Given the description of an element on the screen output the (x, y) to click on. 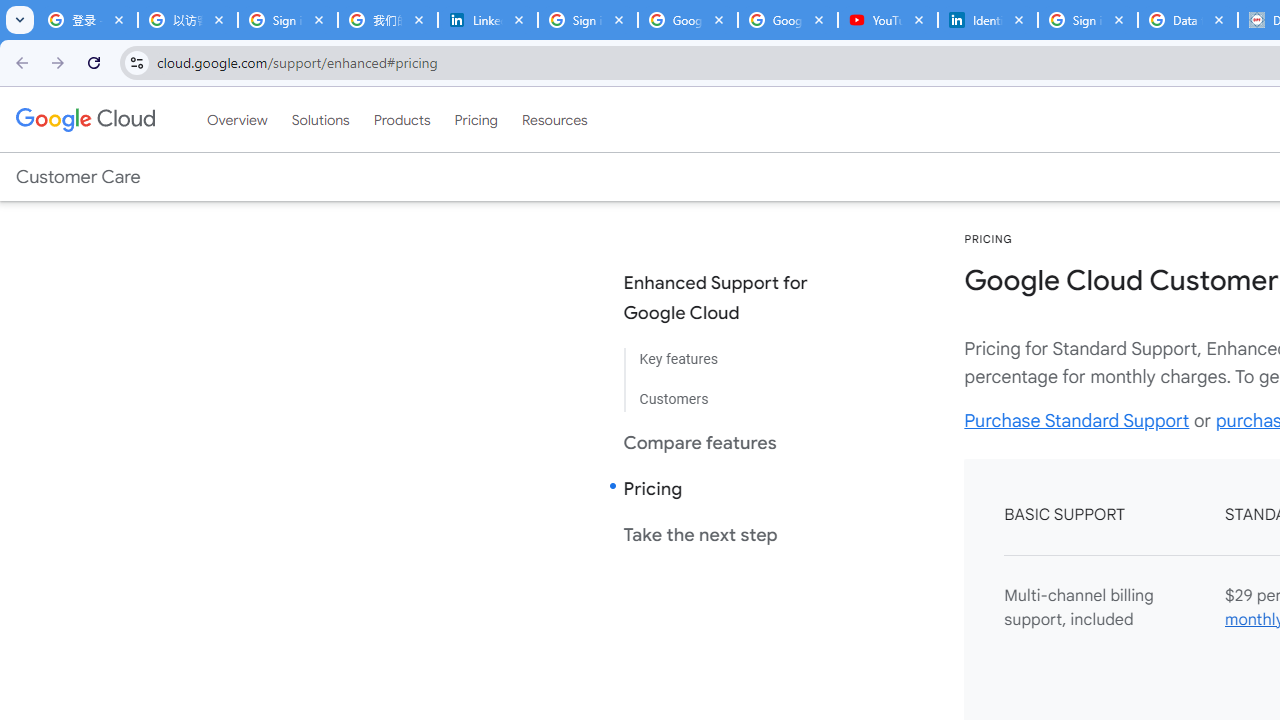
Pricing (476, 119)
Key features (732, 359)
Solutions (320, 119)
Resources (553, 119)
